Given the description of an element on the screen output the (x, y) to click on. 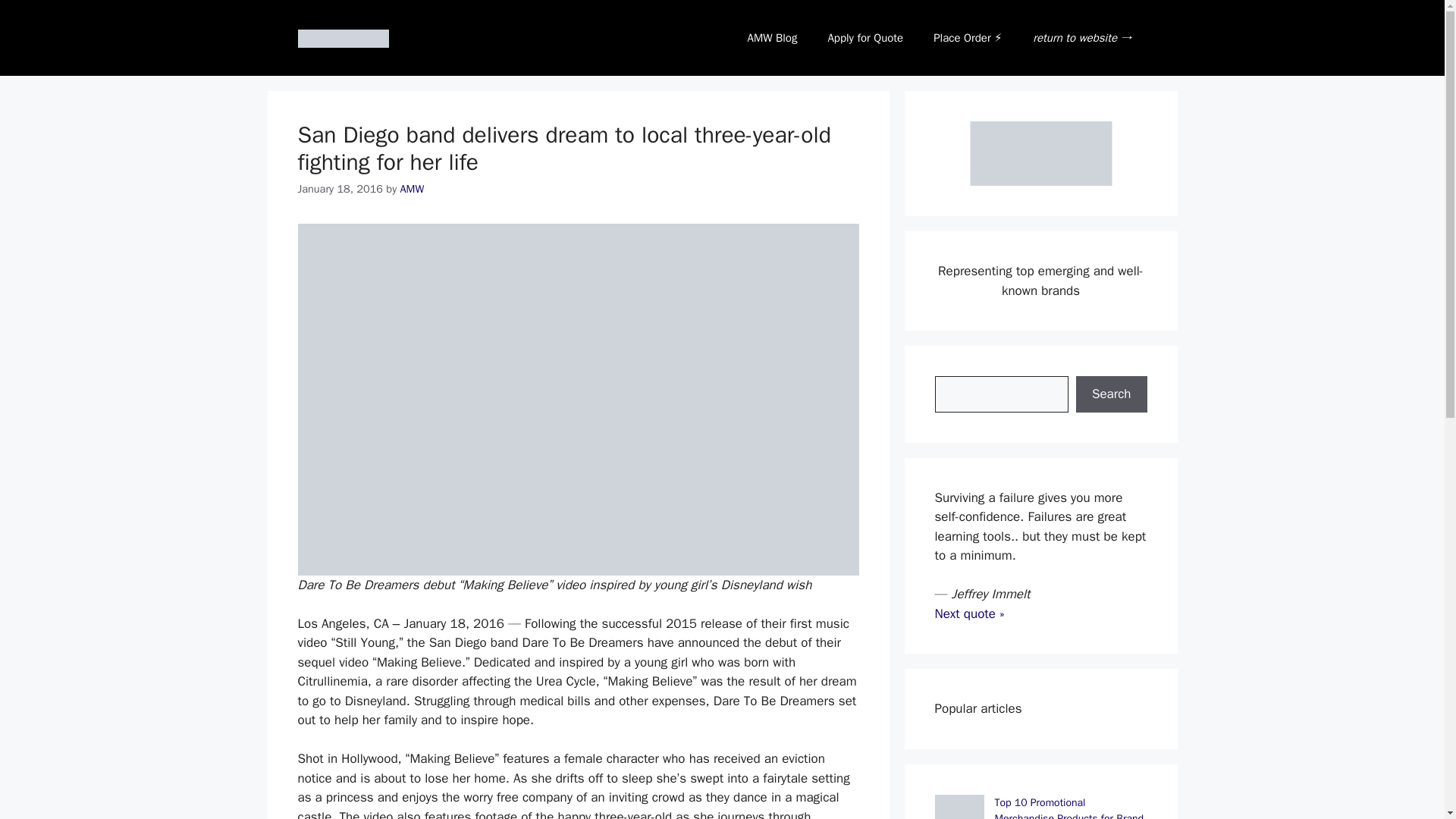
Apply for Quote (865, 37)
Search (1111, 393)
AMW Blog (772, 37)
AMW (412, 188)
Top 10 Promotional Merchandise Products for Brand Visibility (1069, 807)
View all posts by AMW (412, 188)
AMW (1040, 153)
